Given the description of an element on the screen output the (x, y) to click on. 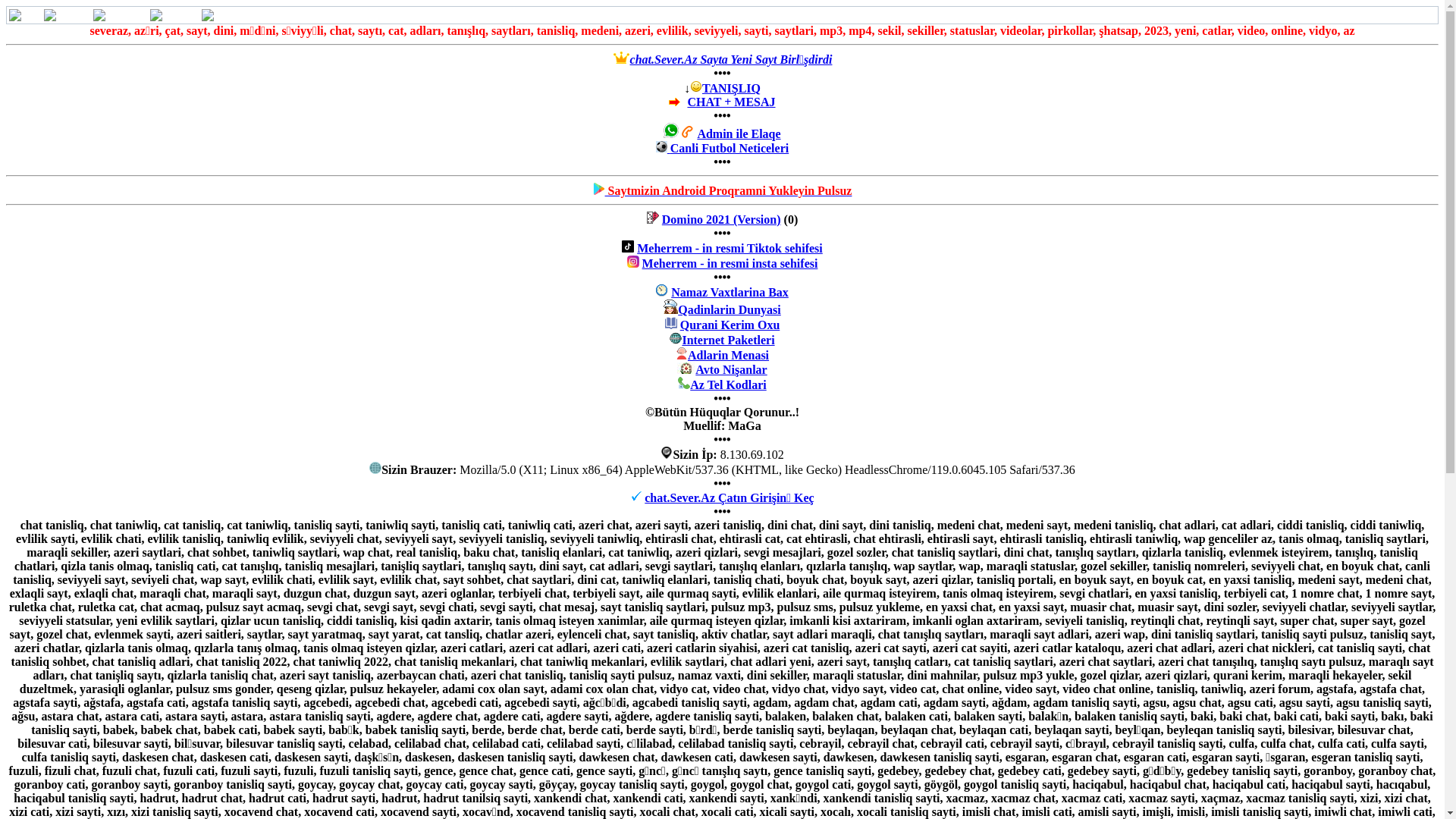
CHAT + MESAJ Element type: text (731, 101)
Canli Futbol Neticeleri Element type: text (729, 147)
Meherrem - in resmi insta sehifesi Element type: text (730, 263)
Mesajlar Element type: hover (66, 14)
Mektublar Element type: hover (119, 14)
Mesajlar Element type: hover (66, 15)
Hom Element type: hover (24, 14)
Qonaqlar Element type: hover (174, 14)
Qurani Kerim Oxu Element type: text (730, 324)
Qonaqlar Element type: hover (174, 15)
Saytmizin Android Proqramni Yukleyin Pulsuz Element type: text (728, 190)
Internet Paketleri Element type: text (727, 339)
Mektublar Element type: hover (119, 15)
Domino 2021 (Version) Element type: text (721, 219)
Adlarin Menasi Element type: text (727, 354)
Hom Element type: hover (24, 15)
Meherrem - in resmi Tiktok sehifesi Element type: text (729, 247)
Qadinlarin Dunyasi Element type: text (729, 309)
Az Tel Kodlari Element type: text (727, 384)
Namaz Vaxtlarina Bax Element type: text (729, 291)
Admin ile Elaqe Element type: text (718, 140)
